Given the description of an element on the screen output the (x, y) to click on. 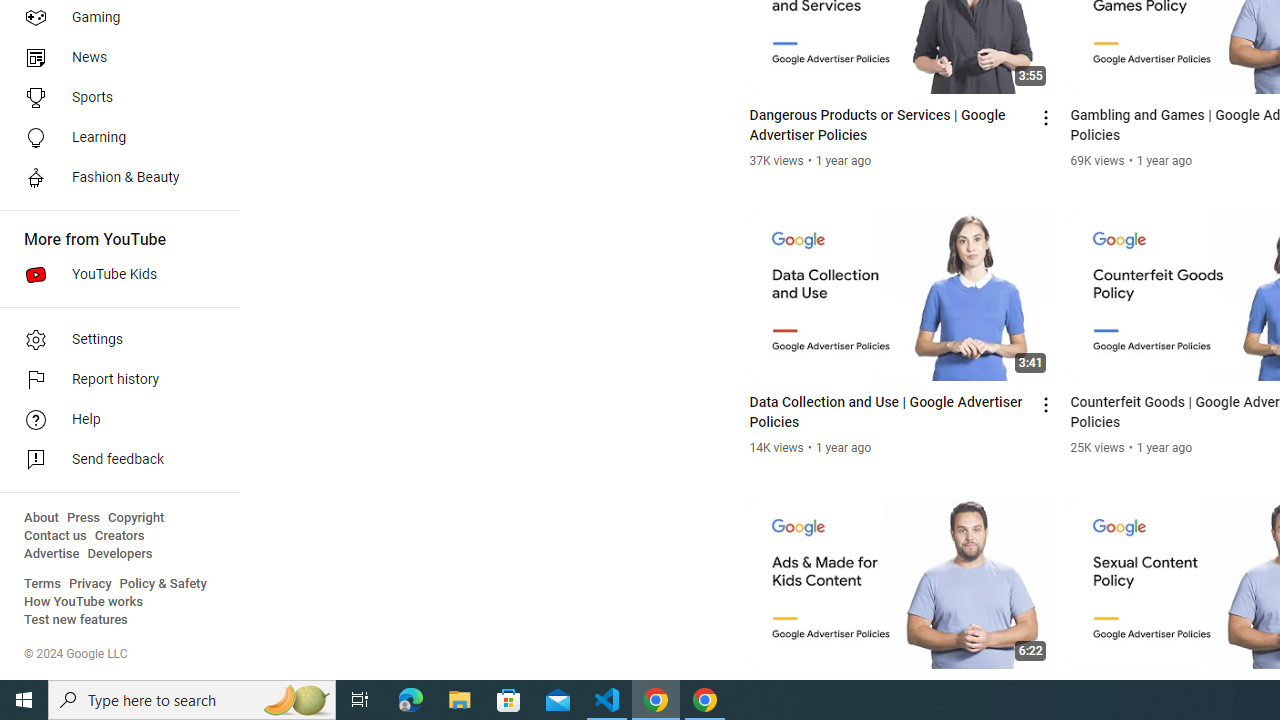
Settings (113, 339)
Send feedback (113, 459)
YouTube Kids (113, 274)
Fashion & Beauty (113, 177)
Sports (113, 97)
Contact us (55, 536)
About (41, 518)
Learning (113, 137)
